Given the description of an element on the screen output the (x, y) to click on. 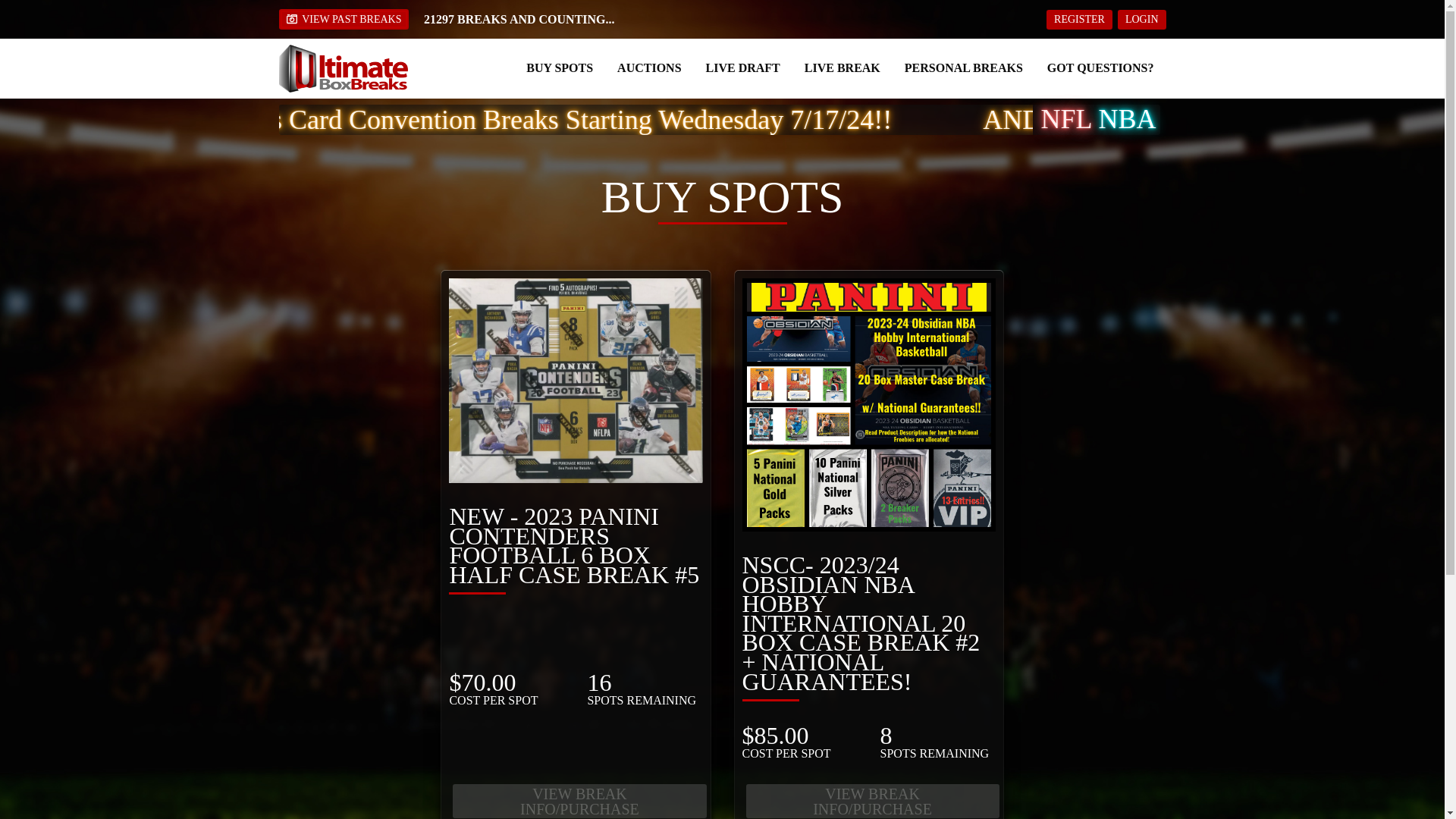
REGISTER (1079, 19)
PERSONAL BREAKS (963, 67)
AUCTIONS (649, 67)
LOGIN (1142, 19)
BUY SPOTS (558, 67)
The next break will have NBA boxes (1126, 121)
LIVE BREAK (842, 67)
View and purchase this break (579, 800)
The next break will have NFL boxes (1066, 121)
LIVE DRAFT (743, 67)
  VIEW PAST BREAKS (344, 19)
GOT QUESTIONS? (1100, 67)
View and purchase this break (871, 800)
